Given the description of an element on the screen output the (x, y) to click on. 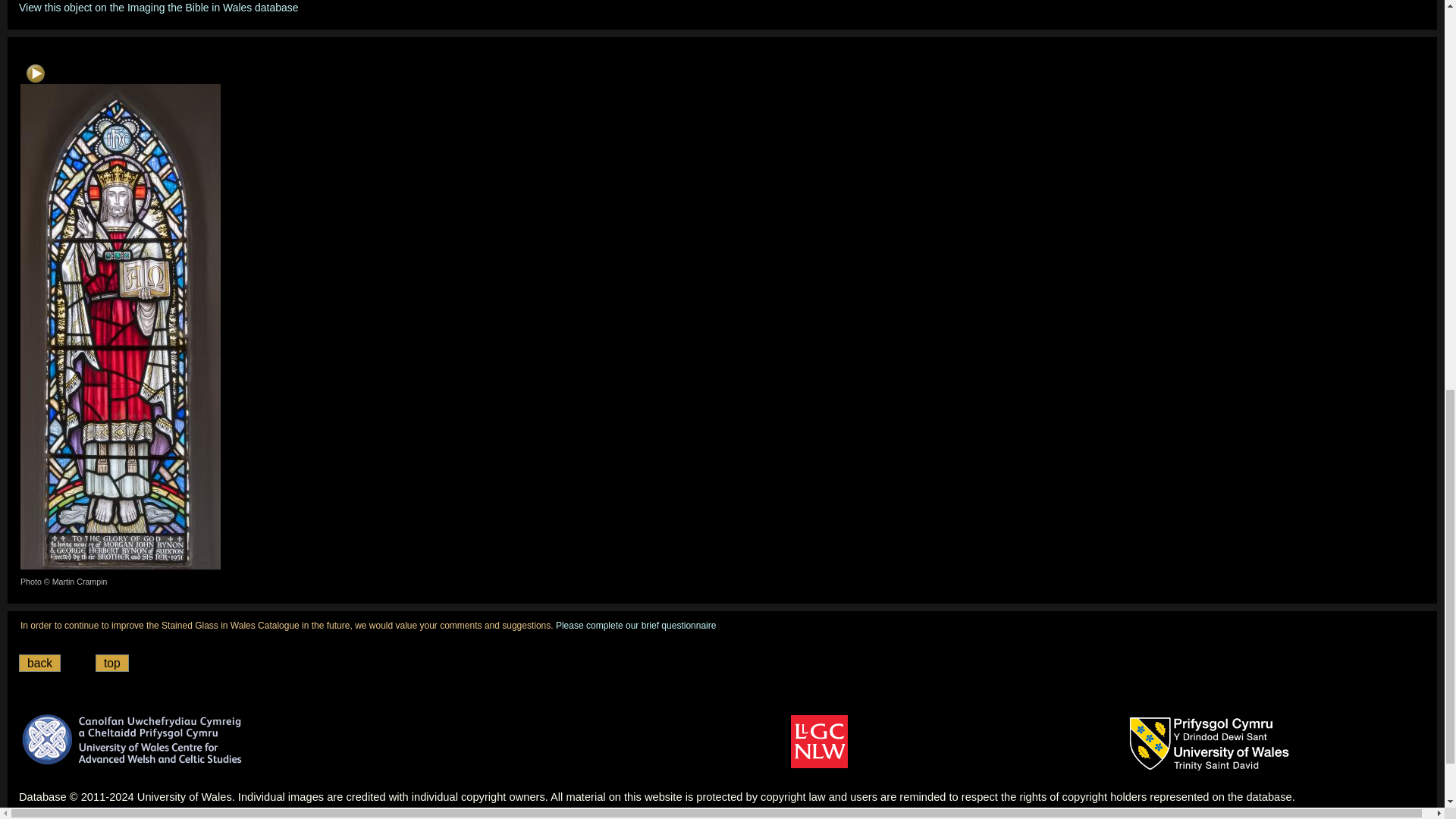
Centre for Advanced Welsh and Celtic Studies (133, 738)
next image (35, 73)
  Christ the King  (120, 326)
back (39, 662)
University of Wales, Trinity Saint David - project partner (1210, 743)
National Library of Wales - project partner (818, 741)
Please complete our brief questionnaire (636, 624)
View this object on the Imaging the Bible in Wales database (158, 7)
